Given the description of an element on the screen output the (x, y) to click on. 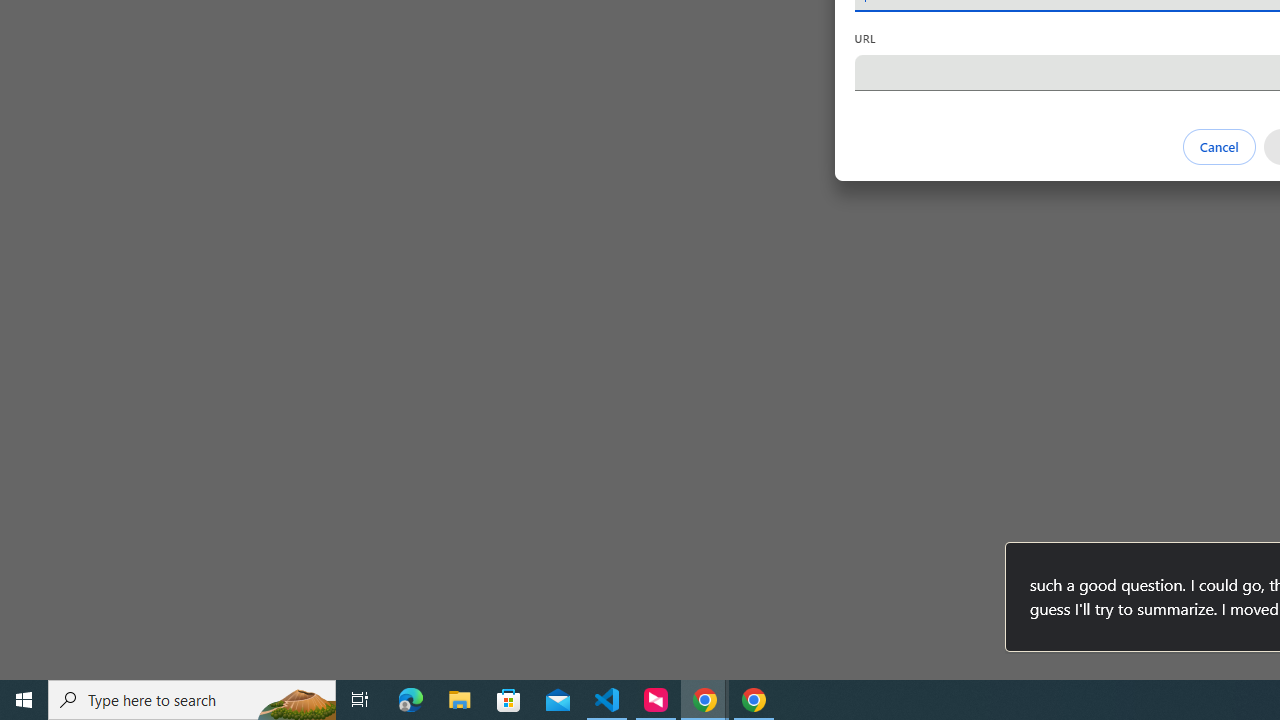
Cancel (1218, 146)
